Given the description of an element on the screen output the (x, y) to click on. 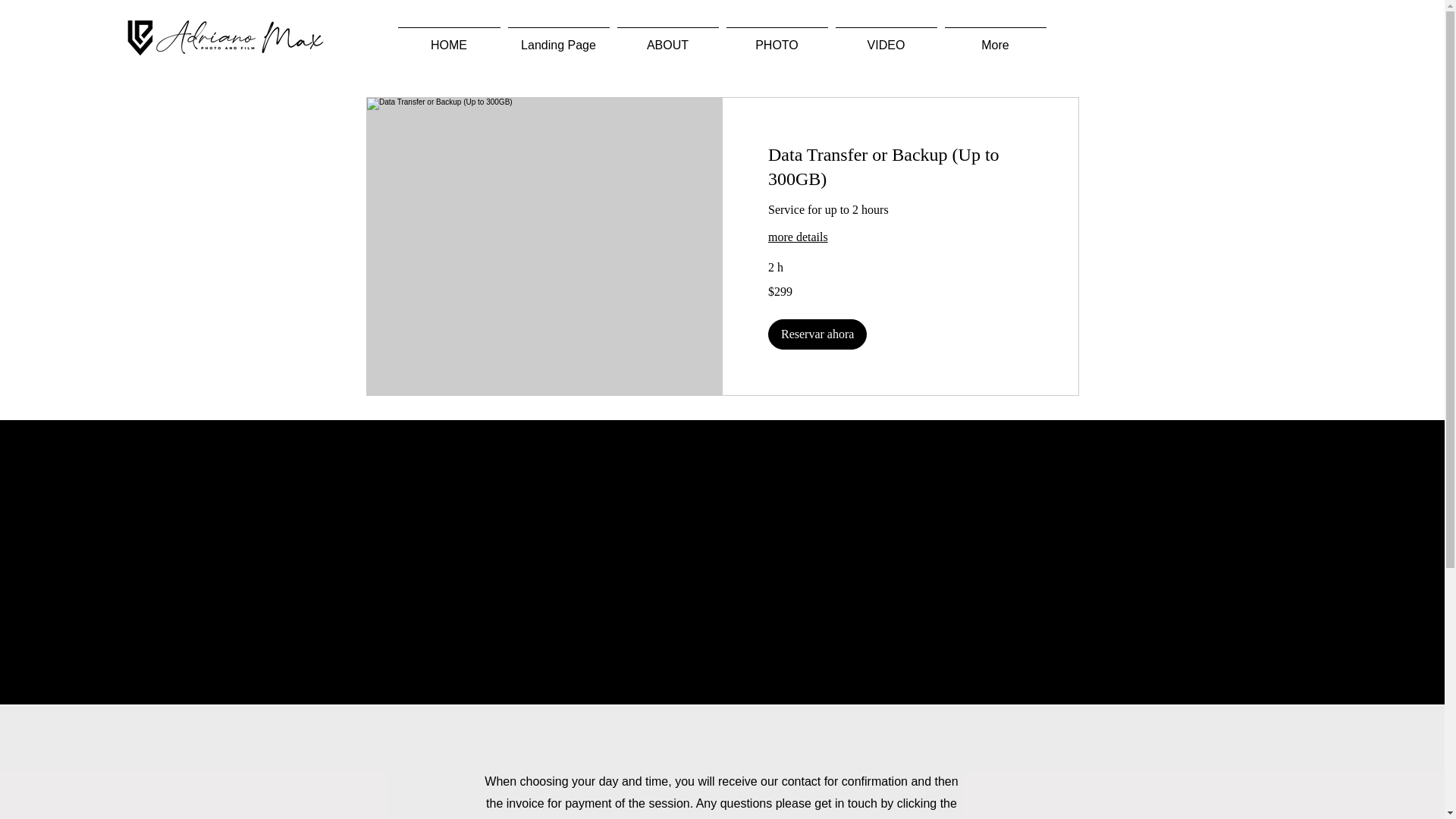
VIDEO (885, 38)
PHOTO (776, 38)
ABOUT (667, 38)
HOME (448, 38)
more details (899, 237)
Reservar ahora (816, 334)
Landing Page (557, 38)
